Given the description of an element on the screen output the (x, y) to click on. 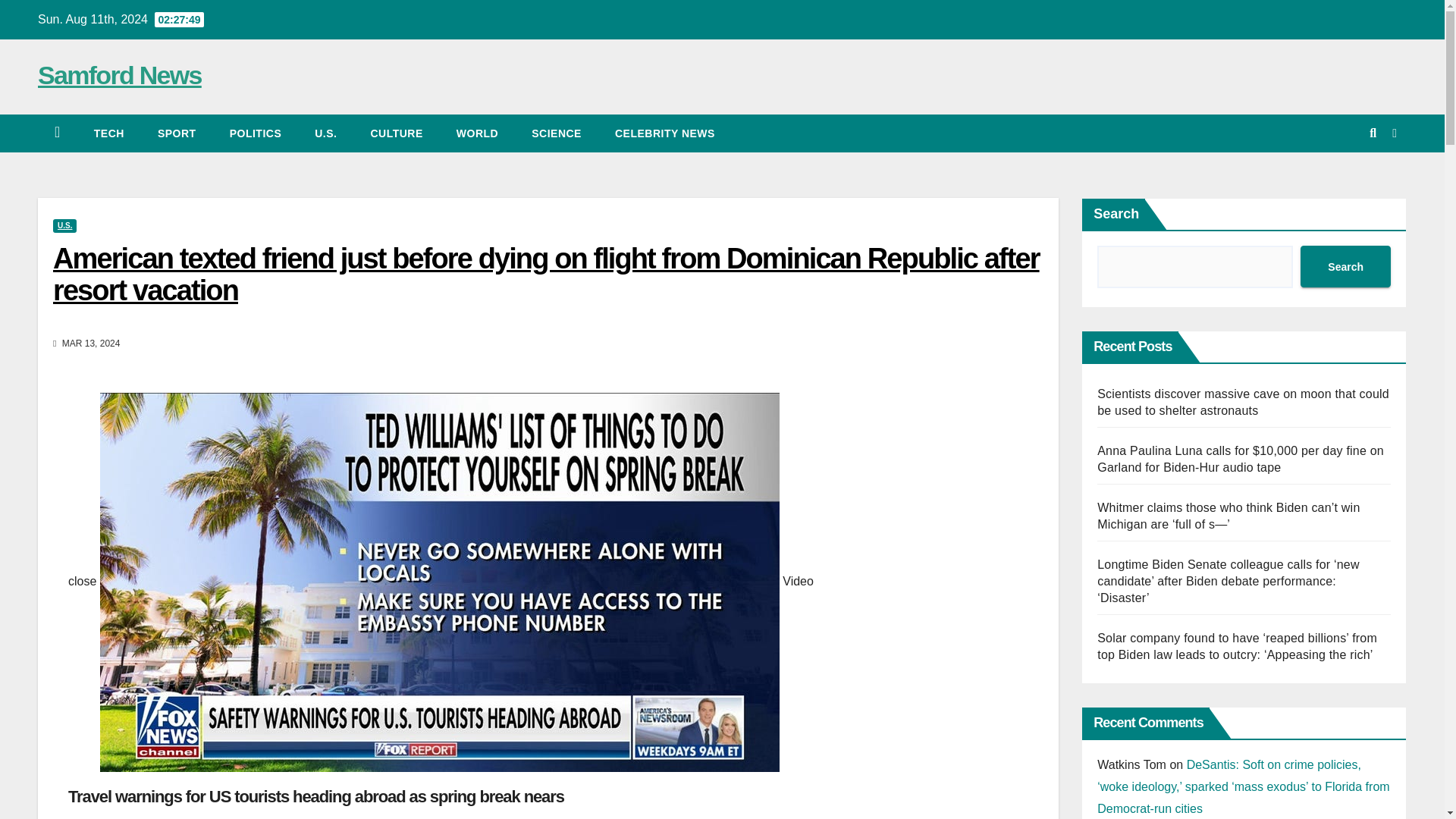
Science (556, 133)
Search (1345, 266)
World (477, 133)
U.S. (325, 133)
CELEBRITY NEWS (665, 133)
Samford News (119, 74)
WORLD (477, 133)
U.S. (325, 133)
